Given the description of an element on the screen output the (x, y) to click on. 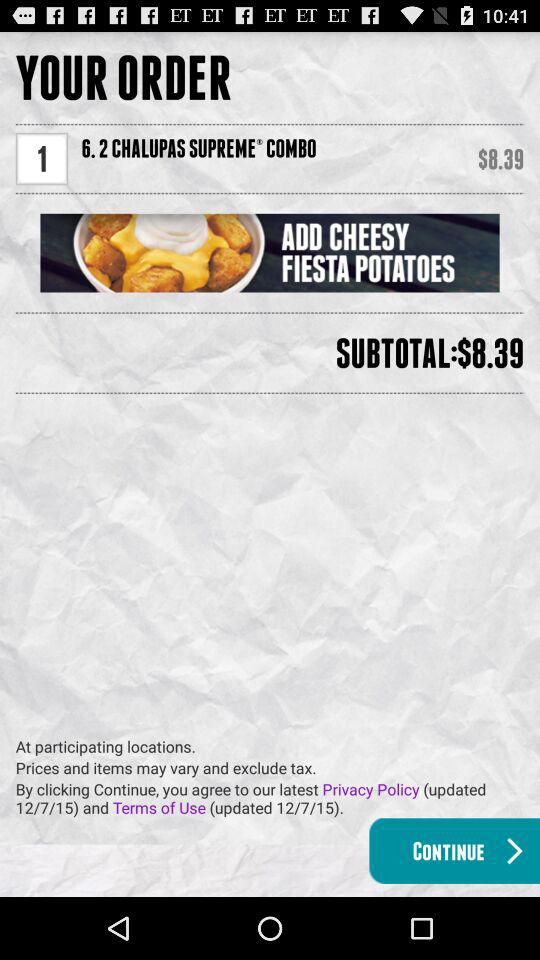
swipe until the by clicking continue item (277, 798)
